Given the description of an element on the screen output the (x, y) to click on. 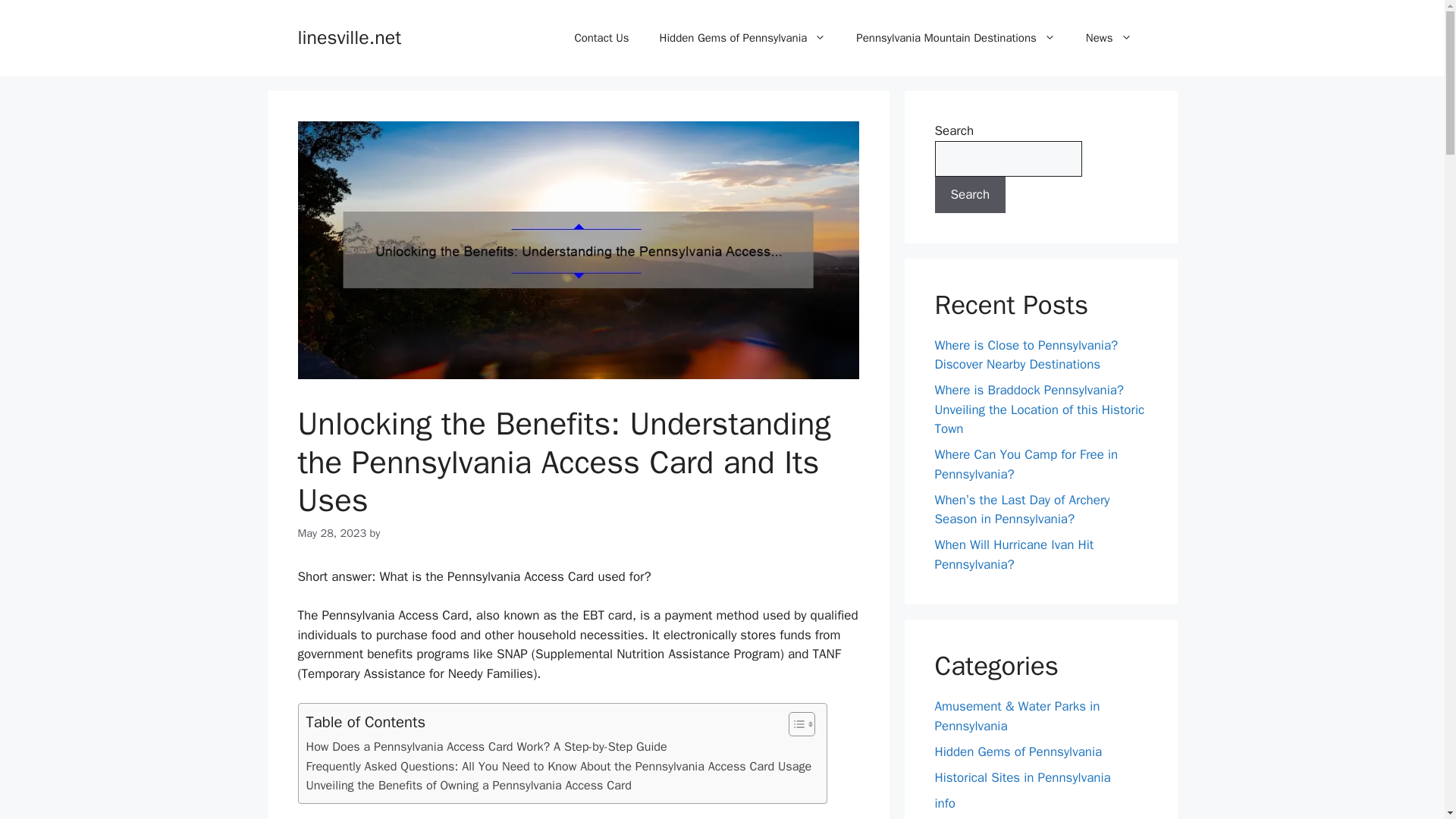
linesville.net (349, 37)
Contact Us (601, 37)
Hidden Gems of Pennsylvania (743, 37)
Unveiling the Benefits of Owning a Pennsylvania Access Card (468, 785)
Pennsylvania Mountain Destinations (955, 37)
News (1108, 37)
